Given the description of an element on the screen output the (x, y) to click on. 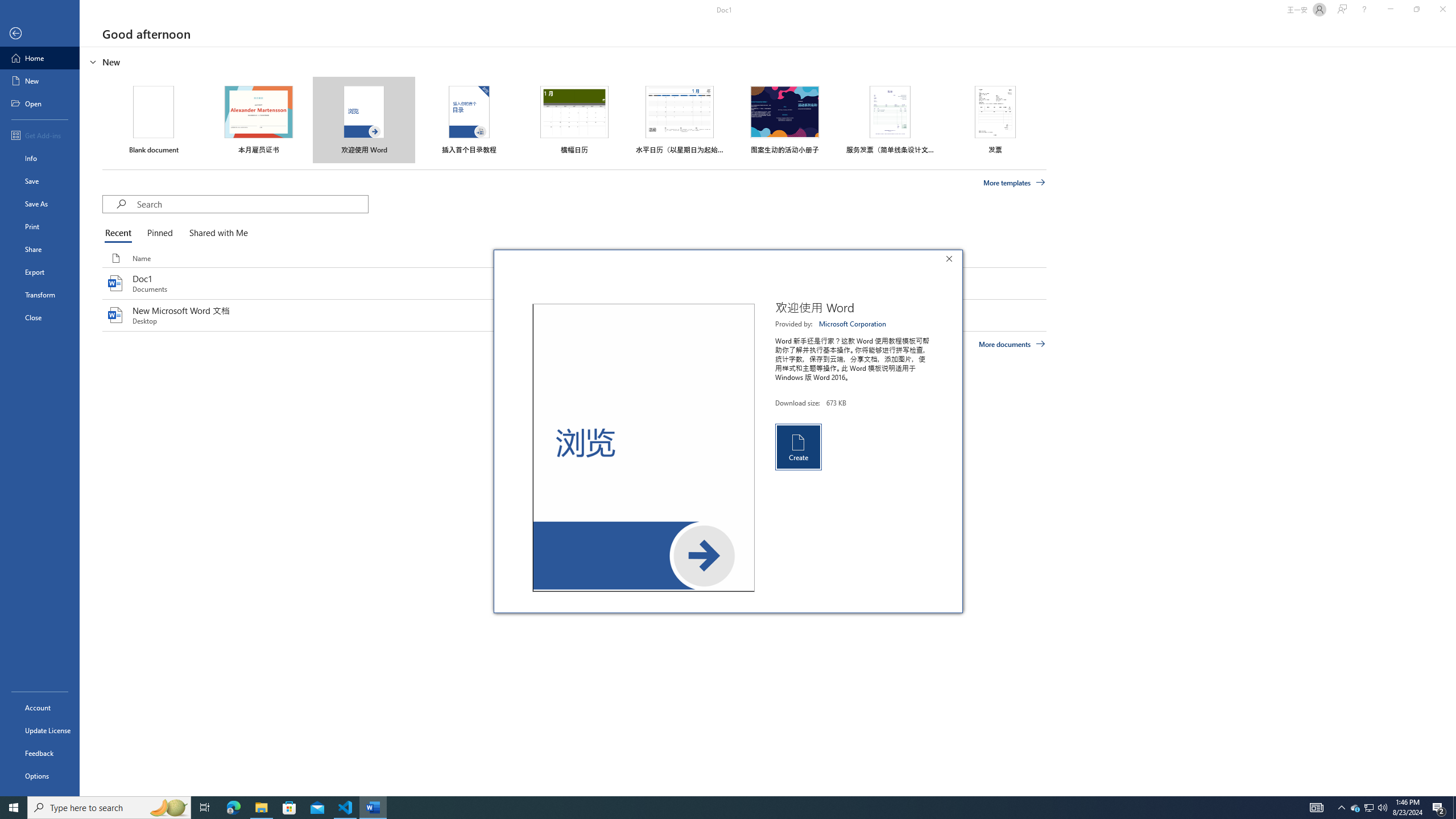
Task View (204, 807)
Update License (40, 730)
Blank document (153, 119)
Feedback (40, 753)
Pinned (159, 233)
Shared with Me (215, 233)
Back (40, 33)
Info (40, 157)
Export (40, 271)
Save As (40, 203)
